Given the description of an element on the screen output the (x, y) to click on. 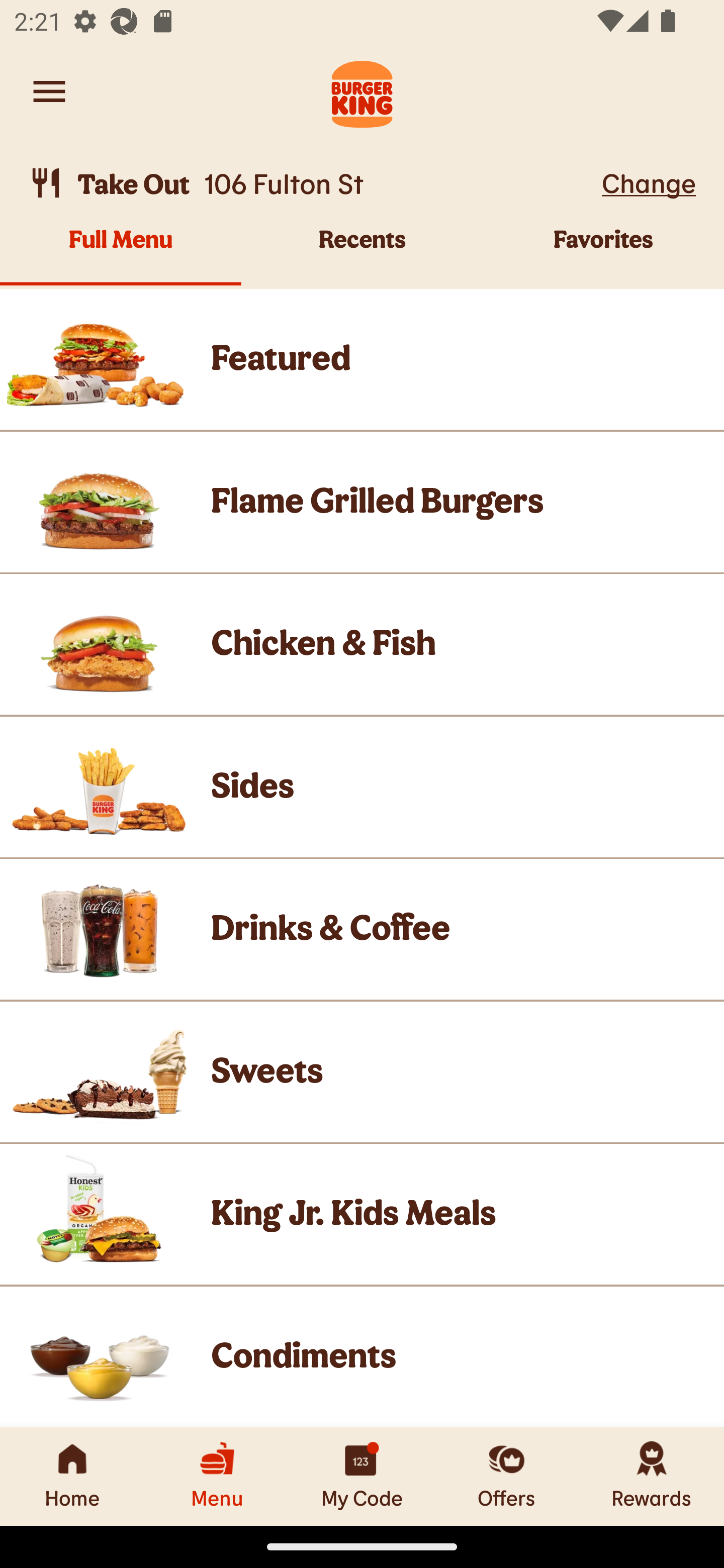
Burger King Logo. Navigate to Home (362, 91)
Navigate to account menu  (49, 91)
Take Out, 106 Fulton St  Take Out 106 Fulton St (311, 183)
Change (648, 182)
Full Menu (120, 255)
Recents (361, 255)
Favorites (603, 255)
Product Image, Featured Product Image Featured (362, 358)
Product Image, Sides Product Image Sides (362, 786)
Product Image, Sweets Product Image Sweets (362, 1072)
Product Image, Condiments Product Image Condiments (362, 1356)
Home (72, 1475)
Menu (216, 1475)
My Code (361, 1475)
Offers (506, 1475)
Rewards (651, 1475)
